Given the description of an element on the screen output the (x, y) to click on. 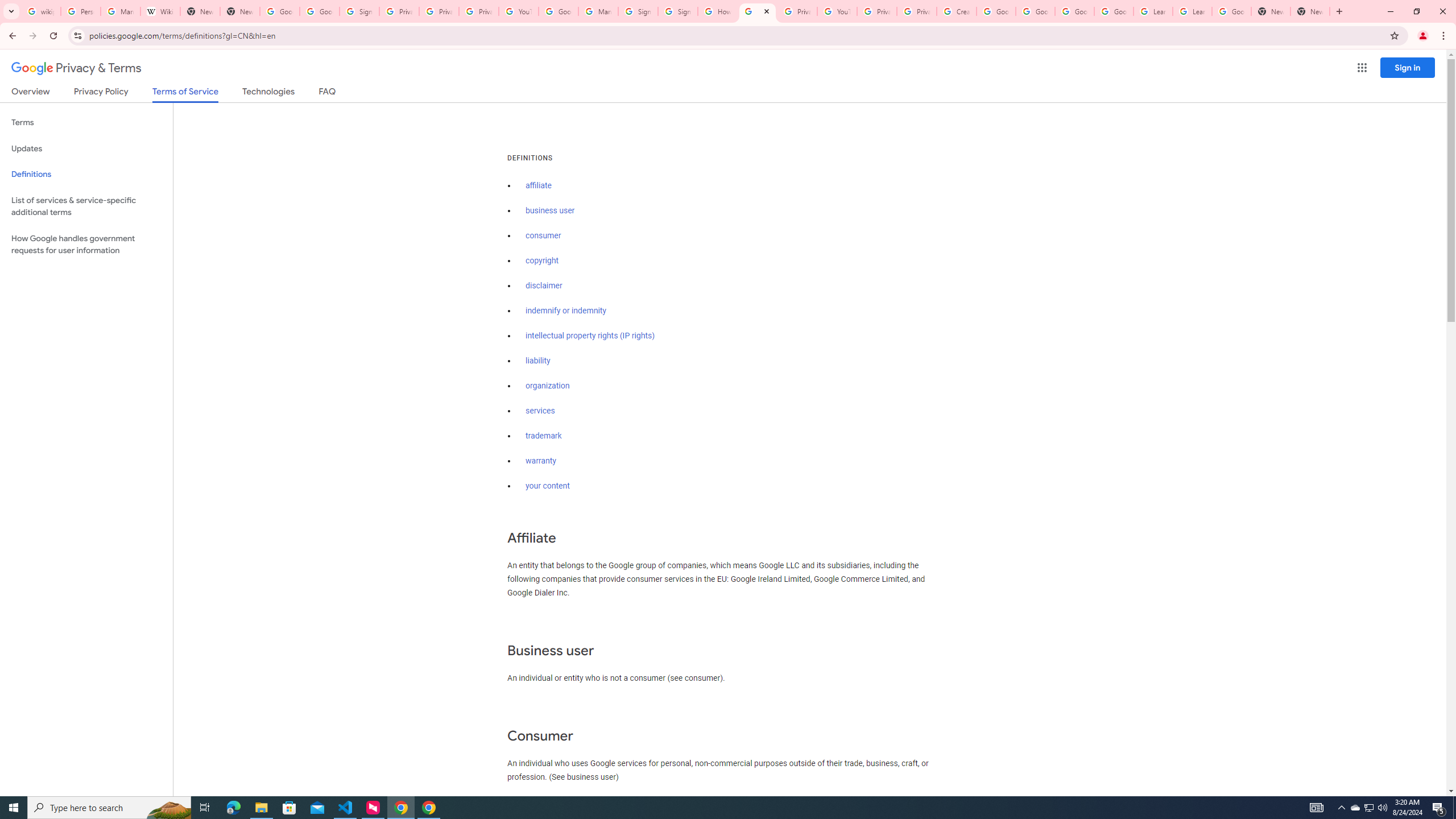
liability (537, 361)
affiliate (538, 185)
consumer (543, 235)
New Tab (239, 11)
Google Account Help (1034, 11)
Sign in - Google Accounts (677, 11)
